Given the description of an element on the screen output the (x, y) to click on. 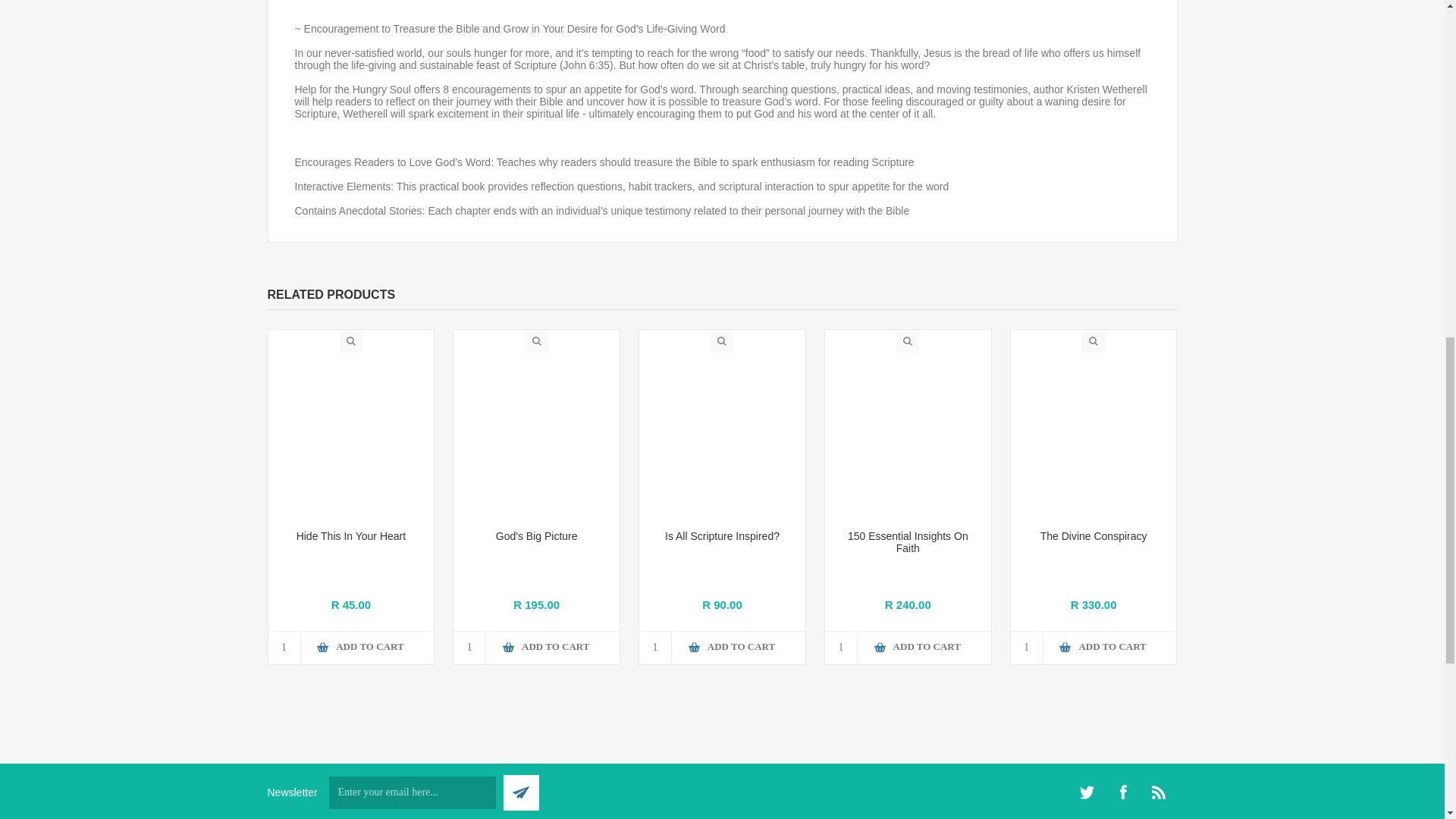
1 (284, 647)
1 (469, 647)
1 (655, 647)
1 (841, 647)
1 (1026, 647)
